Given the description of an element on the screen output the (x, y) to click on. 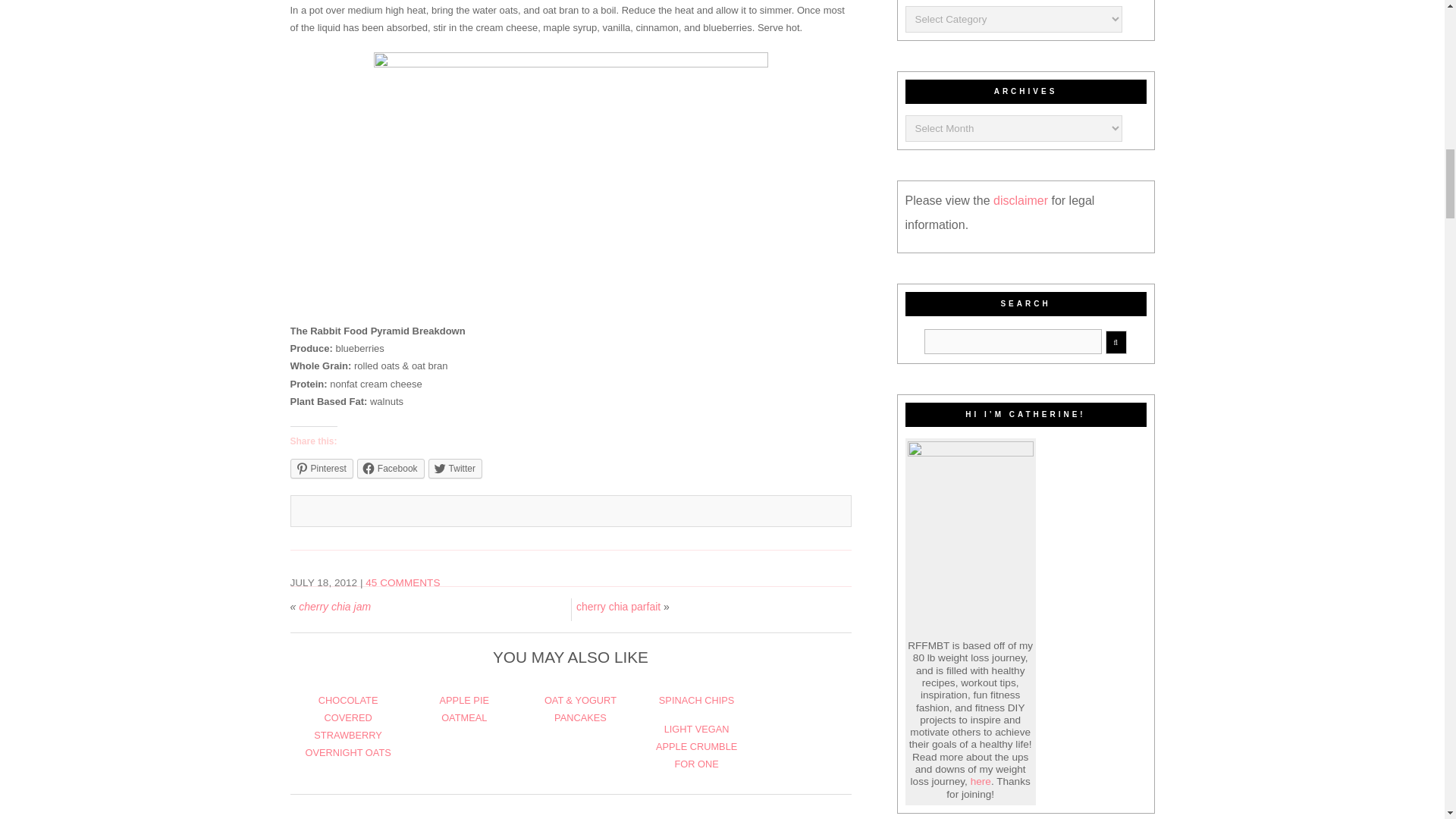
cherry chia jam (334, 606)
Facebook (390, 468)
SPINACH CHIPS (697, 699)
LIGHT VEGAN APPLE CRUMBLE FOR ONE (696, 746)
CHOCOLATE COVERED STRAWBERRY OVERNIGHT OATS (347, 726)
Blueberry Cheesecake Oatmeal (569, 183)
Click to share on Facebook (390, 468)
Click to share on Pinterest (320, 468)
Search (1013, 341)
45 COMMENTS (402, 582)
Twitter (454, 468)
disclaimer (1021, 200)
cherry chia parfait (618, 606)
Click to share on Twitter (454, 468)
APPLE PIE OATMEAL (464, 708)
